Given the description of an element on the screen output the (x, y) to click on. 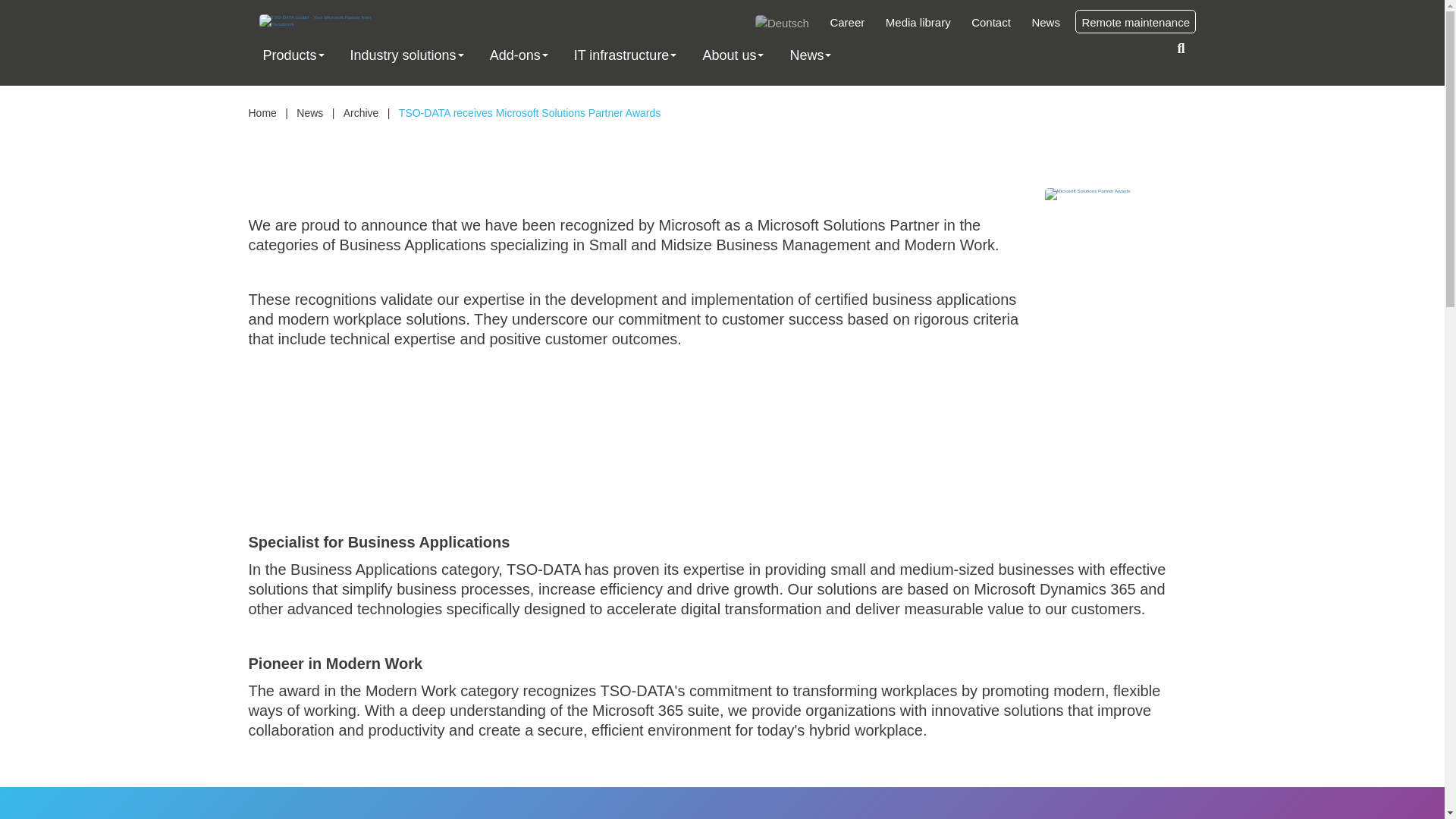
Directly to the TSO-DATA Career Portal (846, 21)
Add-ons (514, 55)
Media library (917, 21)
Media library (917, 21)
News (1044, 21)
Remote maintenance (1135, 21)
Remote maintenance (1135, 21)
Contact (990, 21)
Products (288, 55)
Career (846, 21)
